Given the description of an element on the screen output the (x, y) to click on. 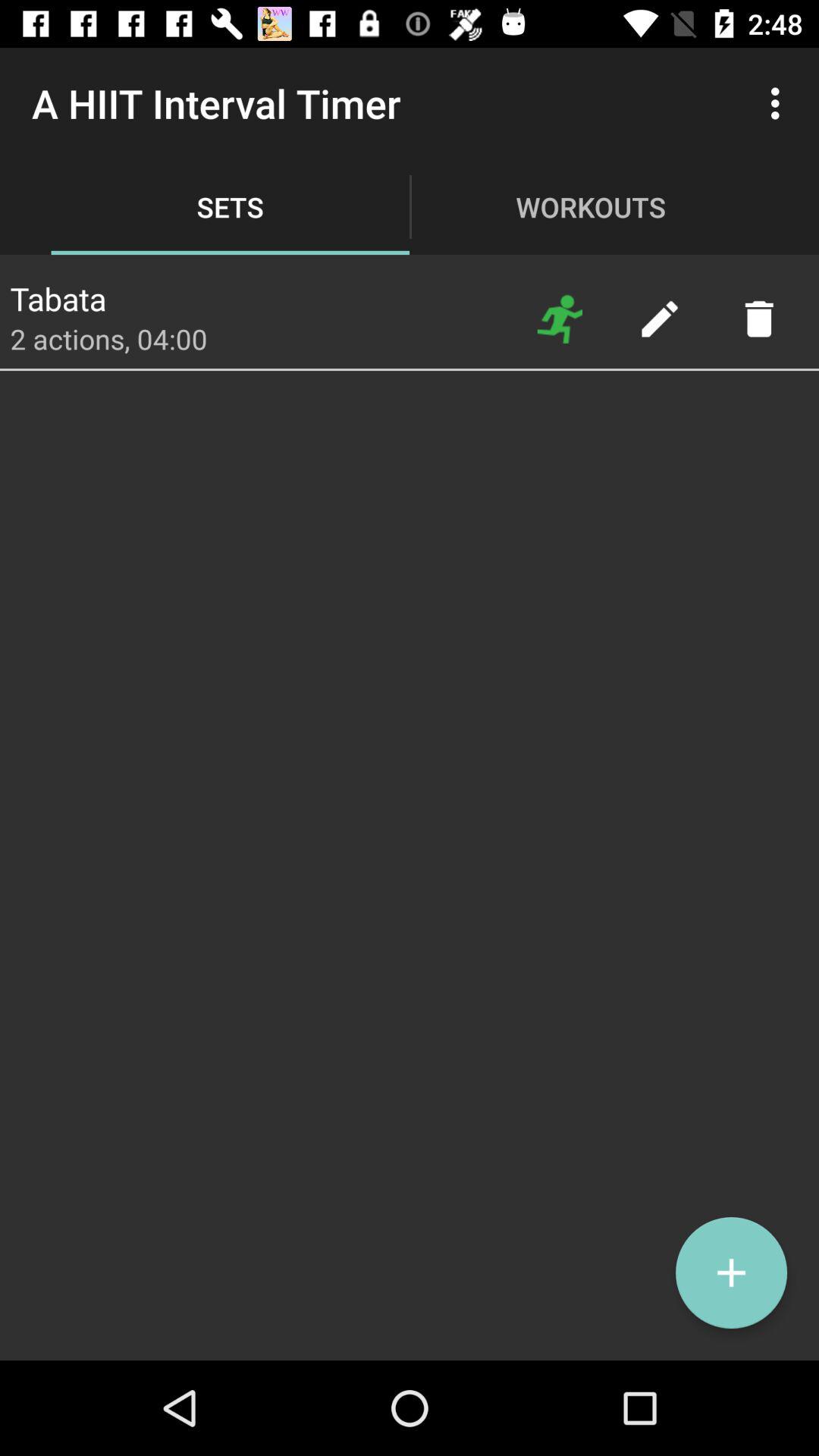
click item below the workouts (659, 318)
